Given the description of an element on the screen output the (x, y) to click on. 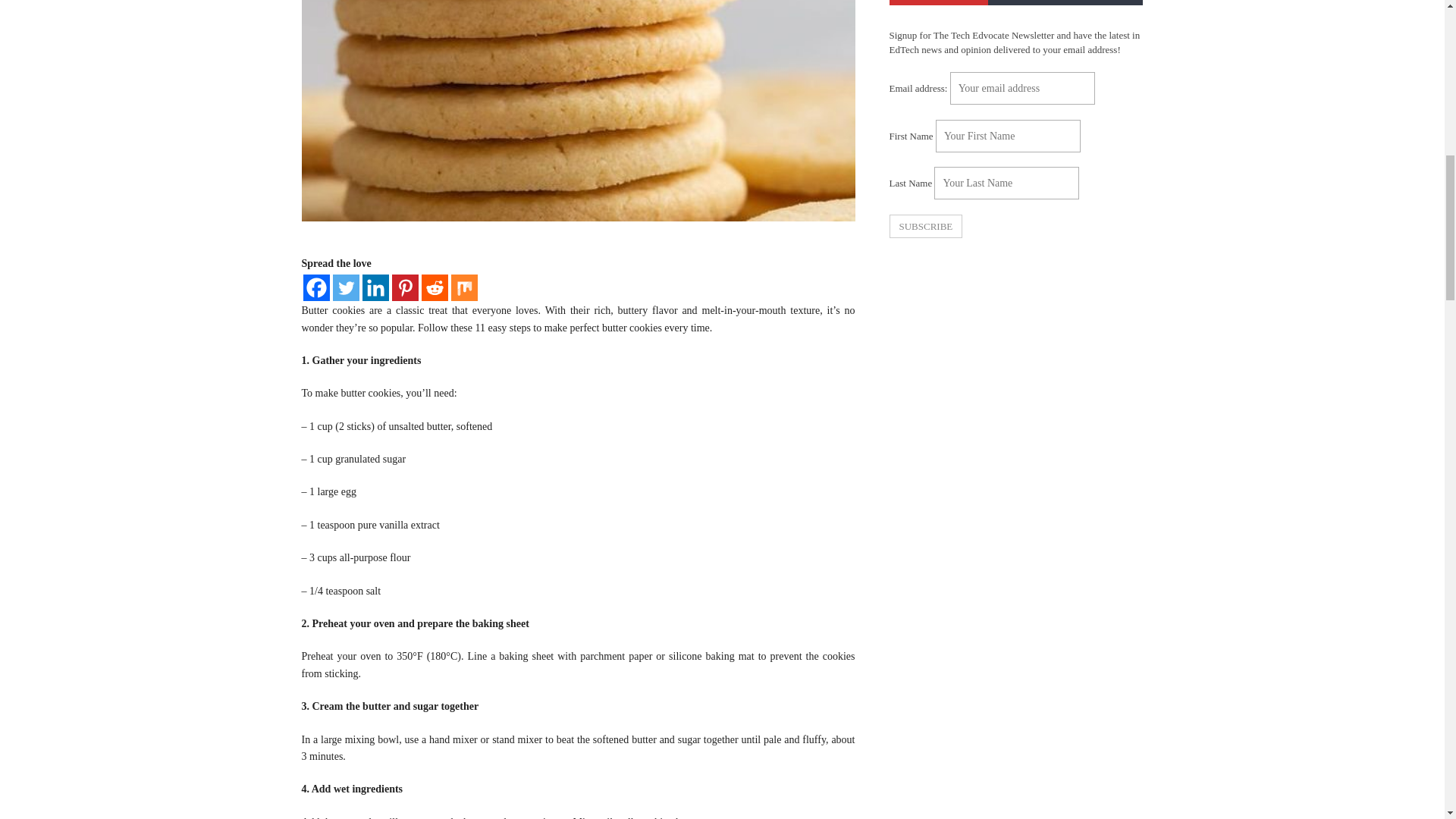
Pinterest (404, 287)
Reddit (435, 287)
Subscribe (925, 225)
Twitter (344, 287)
Mix (463, 287)
Facebook (316, 287)
Linkedin (375, 287)
